Given the description of an element on the screen output the (x, y) to click on. 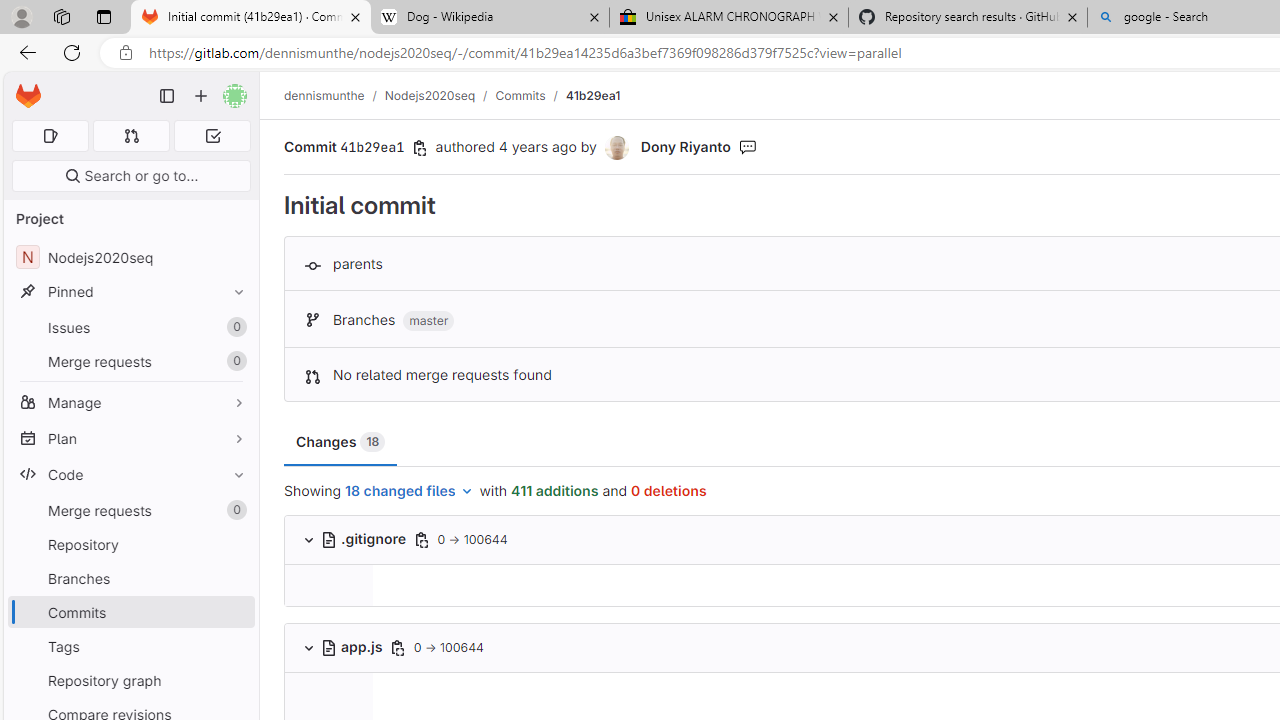
Commits (520, 95)
Pin Branches (234, 578)
Class: s16 gl-icon gl-button-icon  (397, 647)
dennismunthe/ (334, 95)
Tags (130, 646)
Nodejs2020seq (430, 95)
NNodejs2020seq (130, 257)
Pin Repository graph (234, 680)
Manage (130, 402)
Class: old_line diff-line-num empty-cell (328, 701)
dennismunthe (324, 95)
Repository (130, 543)
Class: s16 (328, 647)
To-Do list 0 (212, 136)
